Given the description of an element on the screen output the (x, y) to click on. 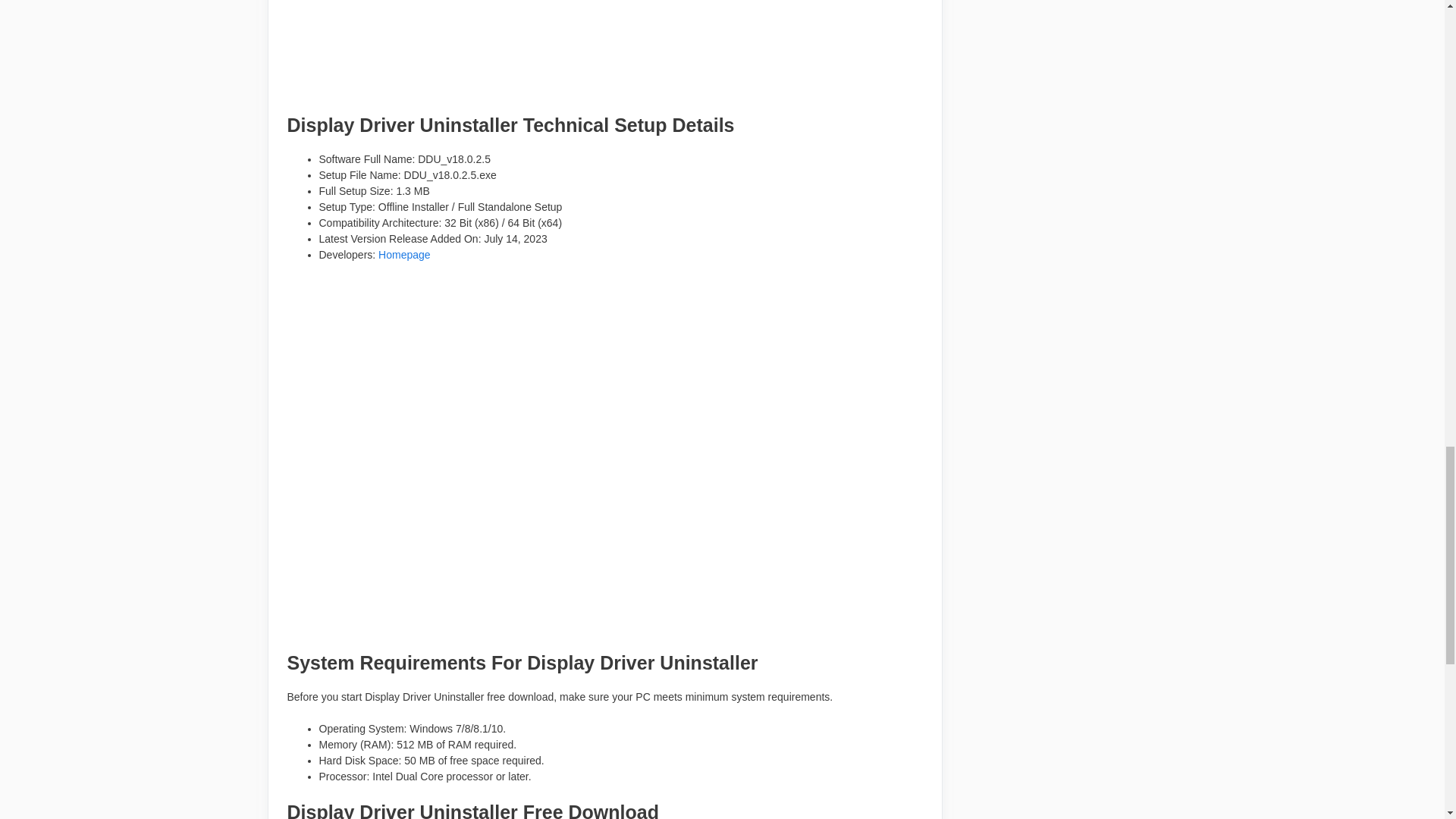
Homepage (404, 254)
